Given the description of an element on the screen output the (x, y) to click on. 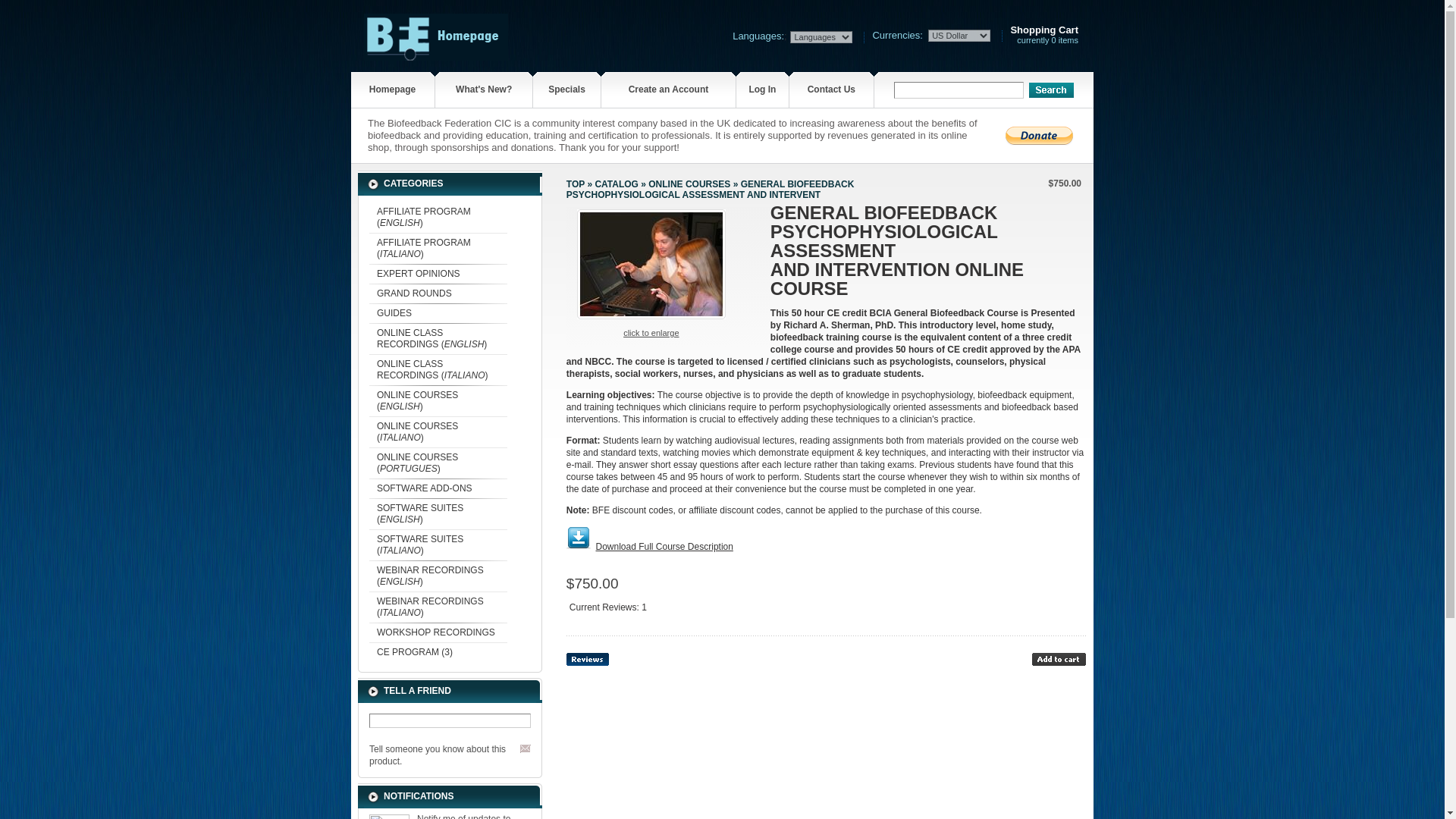
GUIDES (437, 312)
EXPERT OPINIONS (1044, 35)
ONLINE COURSES (437, 273)
 Notifications  (688, 184)
 Tell A Friend  (389, 816)
WORKSHOP RECORDINGS (525, 748)
 Add to Shopping Cart  (437, 632)
Return to main BFE website (1059, 658)
GRAND ROUNDS (436, 56)
TOP (437, 293)
 Reviews  (575, 184)
SOFTWARE ADD-ONS (587, 658)
